Given the description of an element on the screen output the (x, y) to click on. 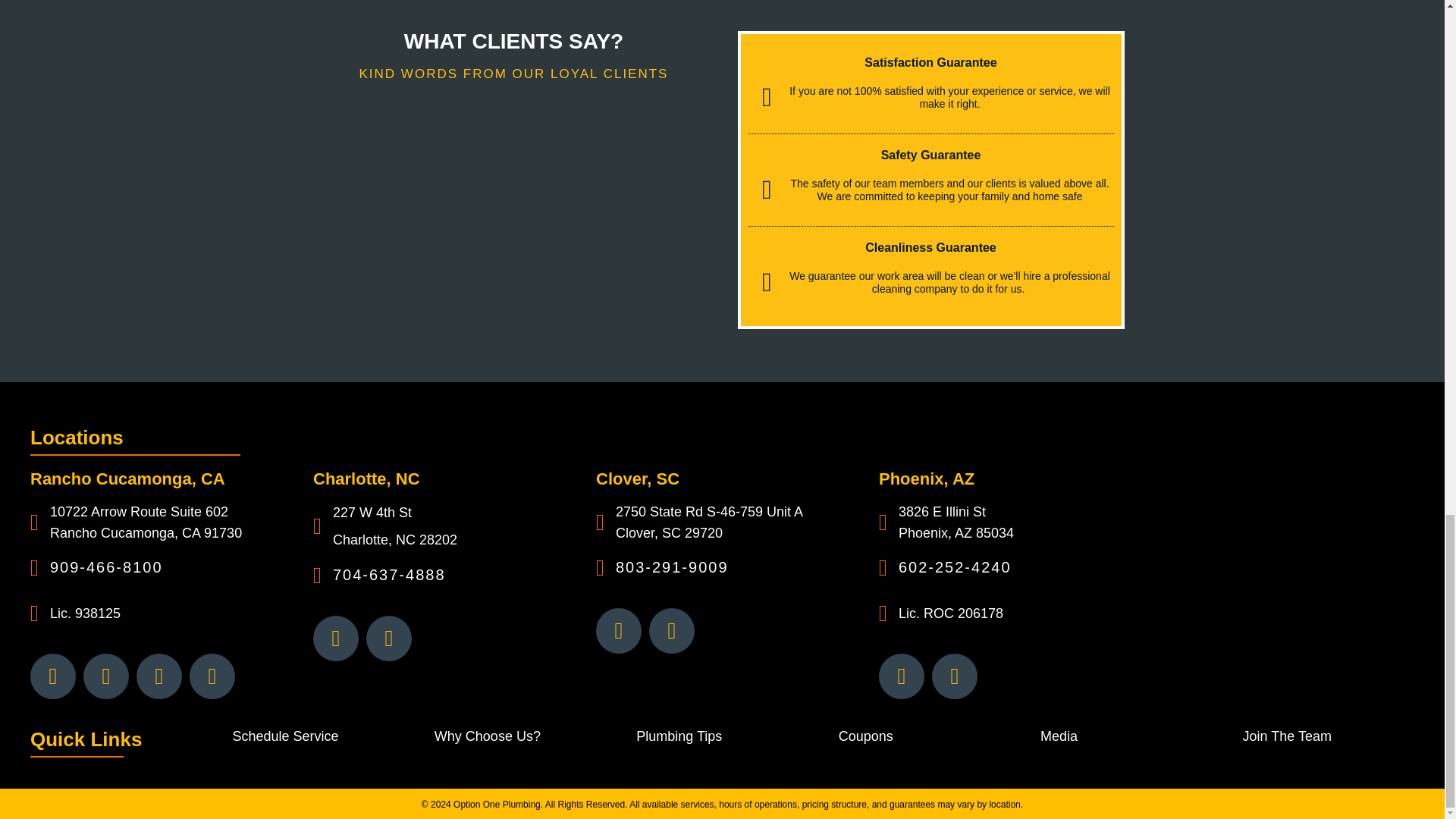
Instagram (618, 630)
Instagram (52, 676)
Instagram (901, 676)
YouTube (211, 676)
TikTok (159, 676)
Facebook (671, 630)
Instagram (335, 637)
Facebook (389, 637)
Facebook (105, 676)
